Given the description of an element on the screen output the (x, y) to click on. 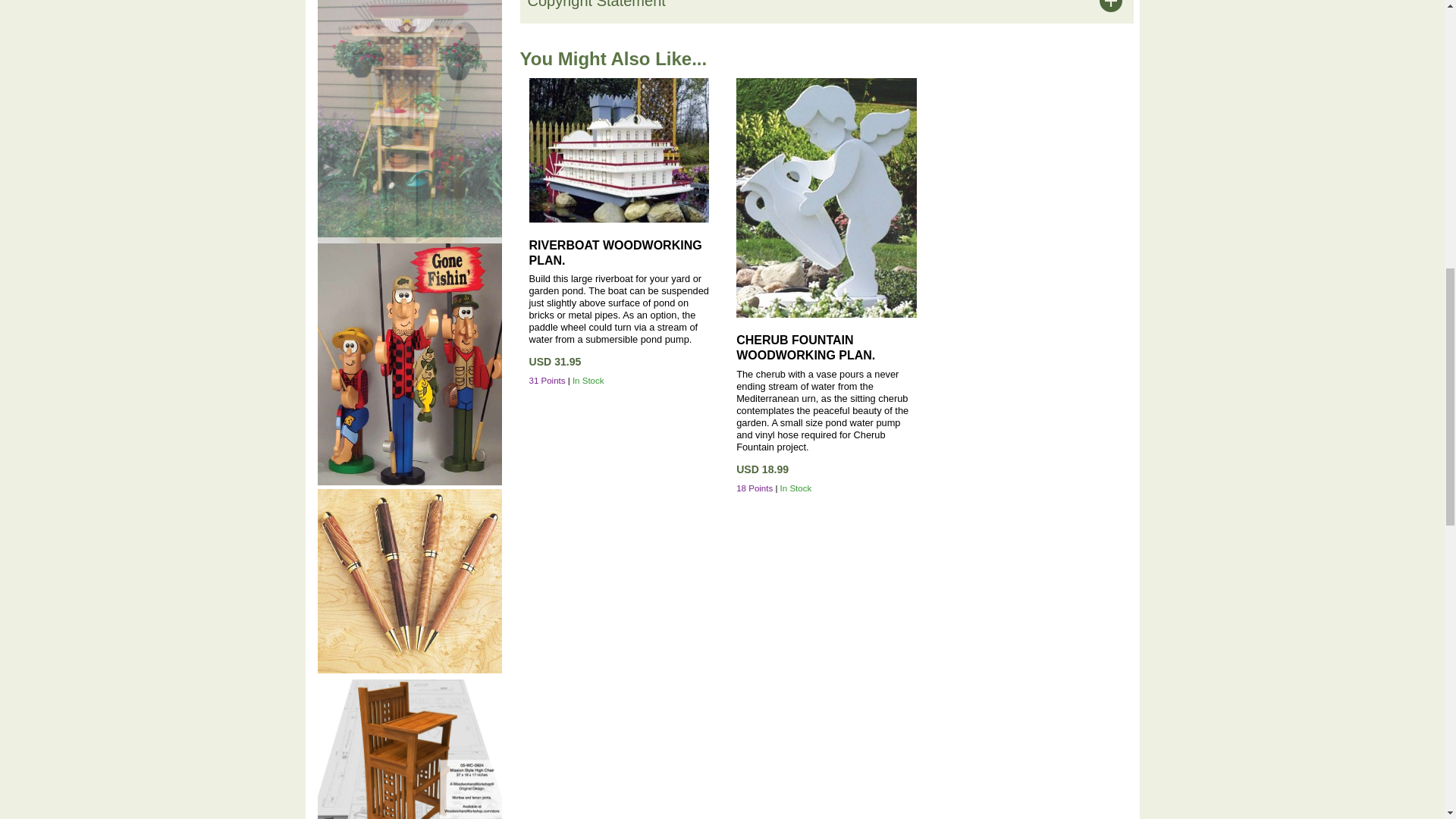
Riverboat Woodworking Plan. (619, 149)
Riverboat Woodworking Plan. (615, 252)
CHERUB FOUNTAIN WOODWORKING PLAN. (805, 347)
Cherub Fountain Woodworking Plan. (805, 347)
RIVERBOAT WOODWORKING PLAN. (615, 252)
